Given the description of an element on the screen output the (x, y) to click on. 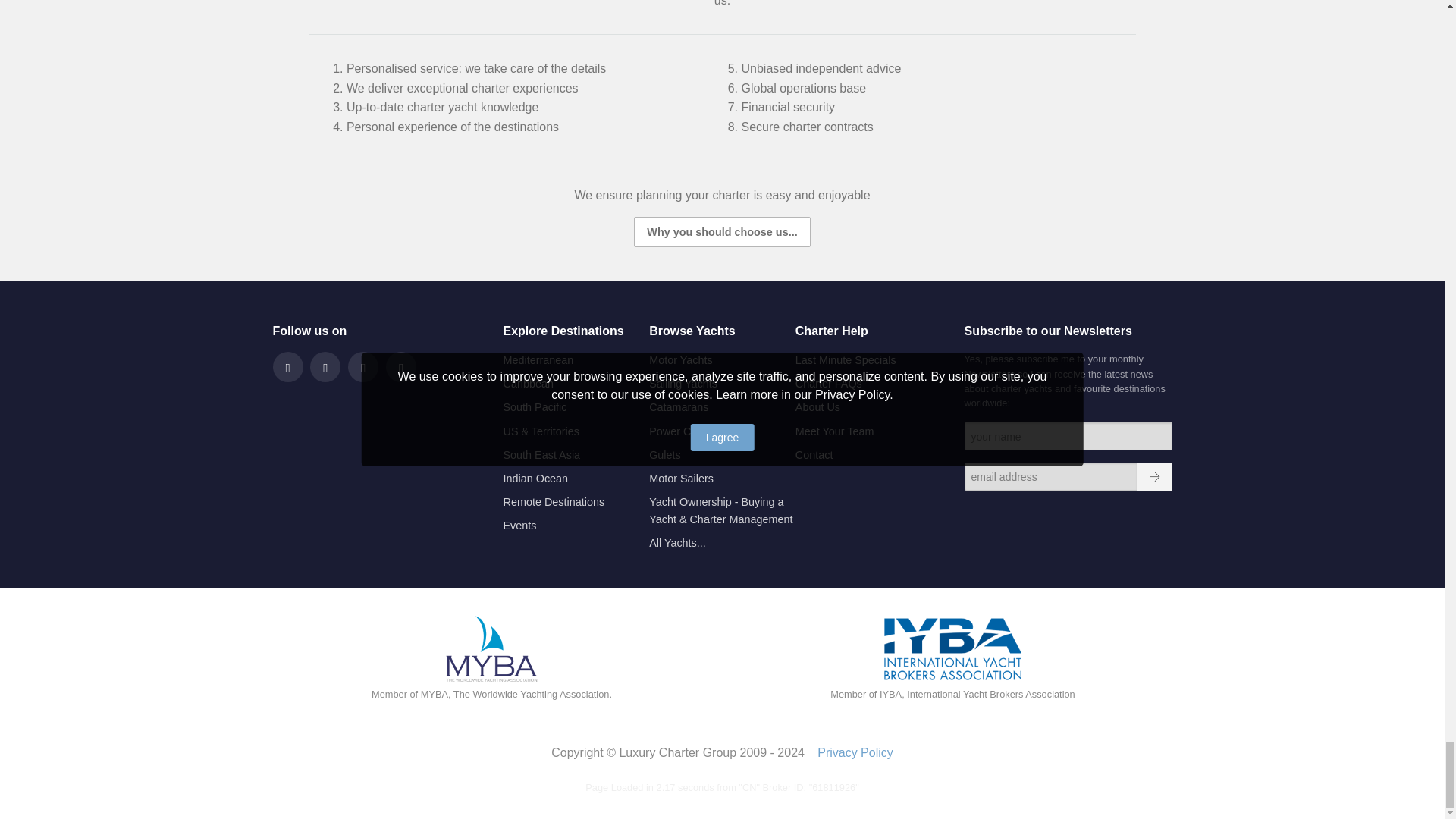
Go (1154, 476)
